Given the description of an element on the screen output the (x, y) to click on. 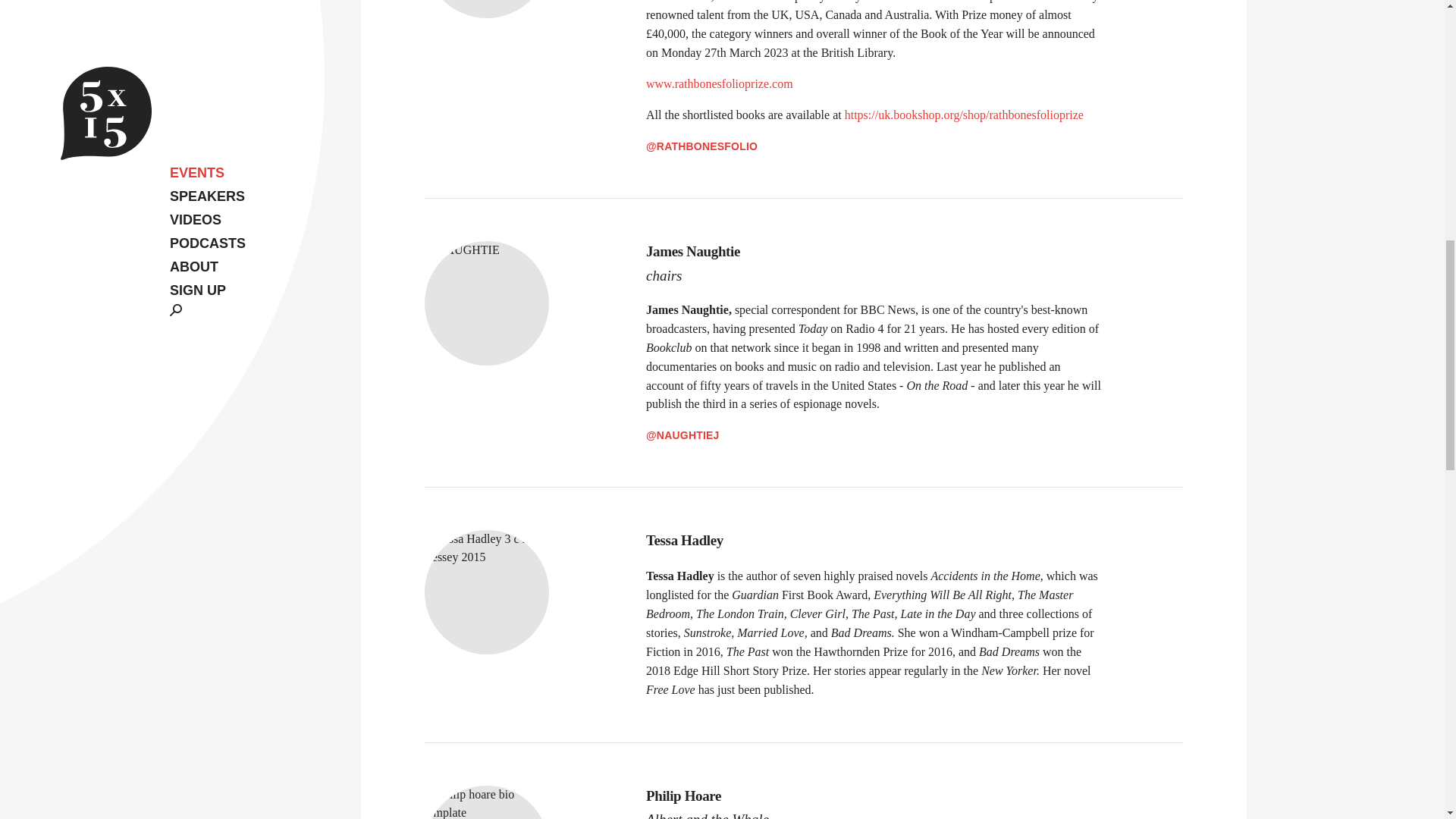
Philip Hoare (873, 796)
www.rathbonesfolioprize.com (719, 83)
James Naughtie (873, 251)
Tessa Hadley (873, 540)
